Given the description of an element on the screen output the (x, y) to click on. 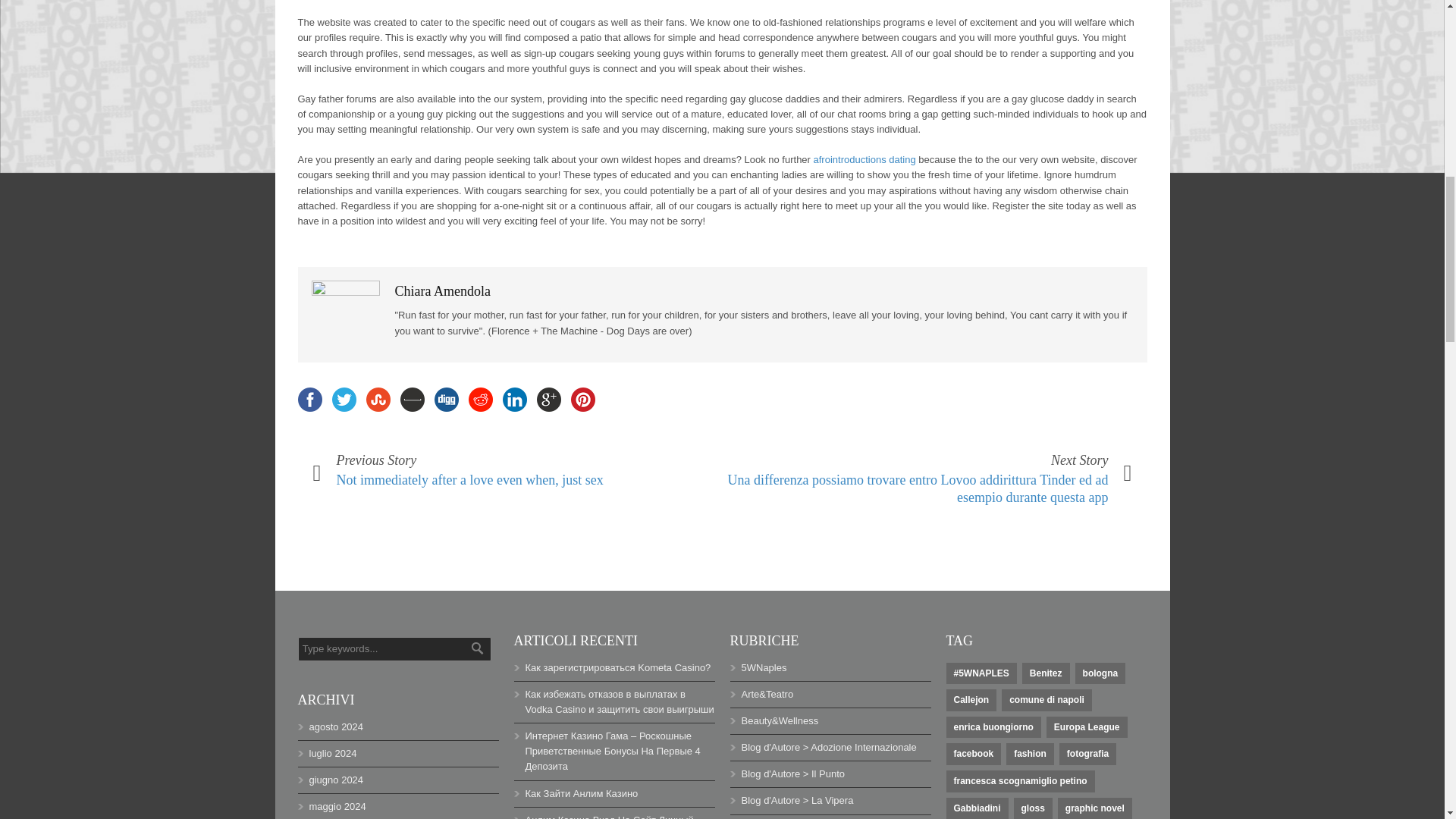
maggio 2024 (337, 806)
agosto 2024 (336, 726)
afrointroductions dating (864, 159)
Type keywords... (393, 648)
luglio 2024 (332, 753)
giugno 2024 (336, 779)
